Given the description of an element on the screen output the (x, y) to click on. 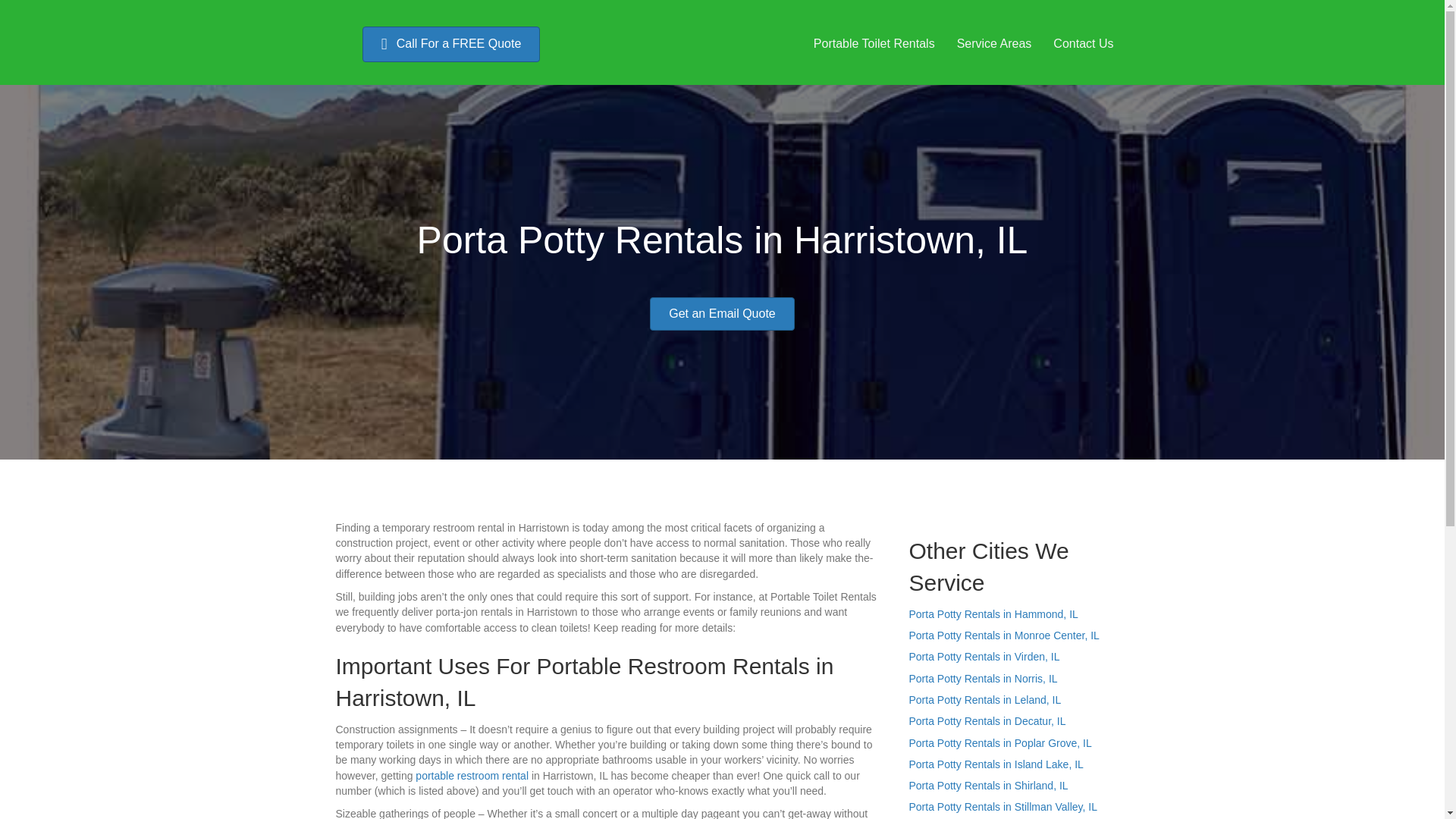
Portable Toilet Rentals (873, 43)
Porta Potty Rentals in Monroe Center, IL (1003, 635)
Porta Potty Rentals in Stillman Valley, IL (1002, 806)
Porta Potty Rentals in Shirland, IL (987, 785)
Porta Potty Rentals in Island Lake, IL (995, 764)
Get an Email Quote (721, 313)
Porta Potty Rentals in Leland, IL (984, 699)
Service Areas (994, 43)
Porta Potty Rentals in Poplar Grove, IL (999, 743)
Porta Potty Rentals in Virden, IL (983, 656)
Porta Potty Rentals in Island Lake, IL (995, 764)
Porta Potty Rentals in Shirland, IL (987, 785)
Porta Potty Rentals in Decatur, IL (986, 720)
Porta Potty Rentals in Monroe Center, IL (1003, 635)
Porta Potty Rentals in Norris, IL (982, 678)
